Given the description of an element on the screen output the (x, y) to click on. 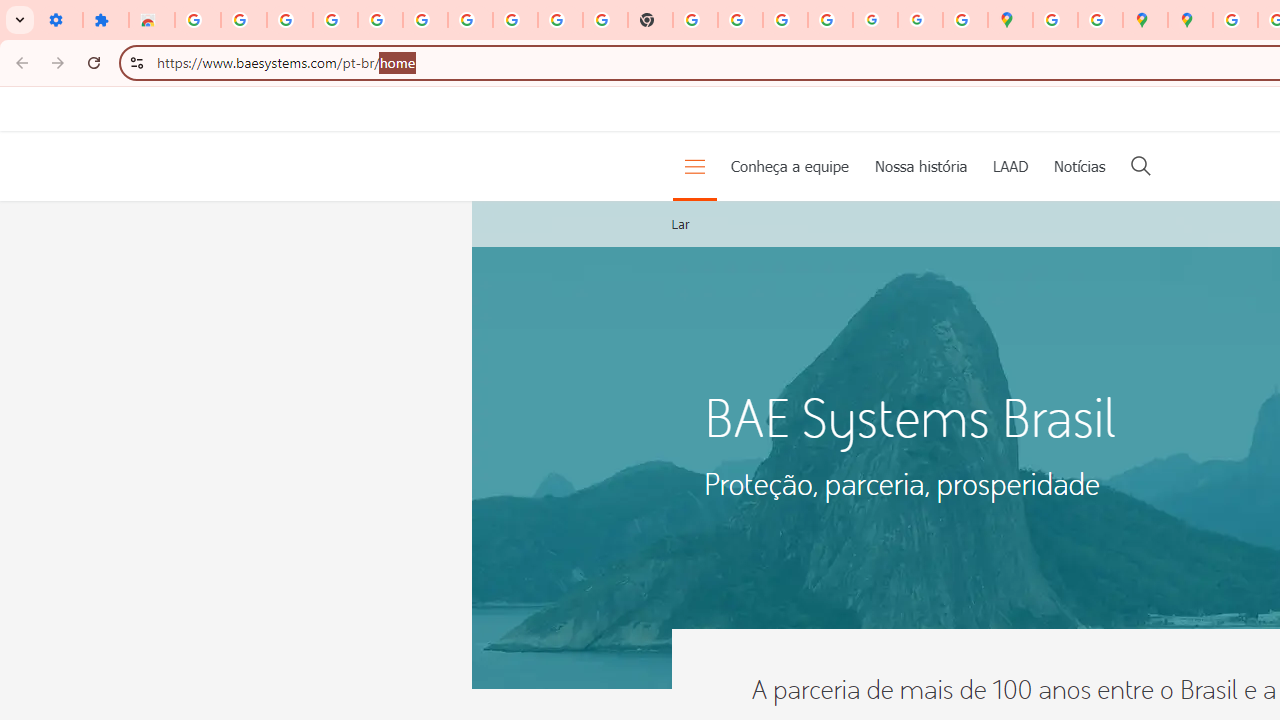
Google Maps (1010, 20)
LAAD (1010, 165)
New Tab (650, 20)
Google Account (514, 20)
Delete photos & videos - Computer - Google Photos Help (290, 20)
